Given the description of an element on the screen output the (x, y) to click on. 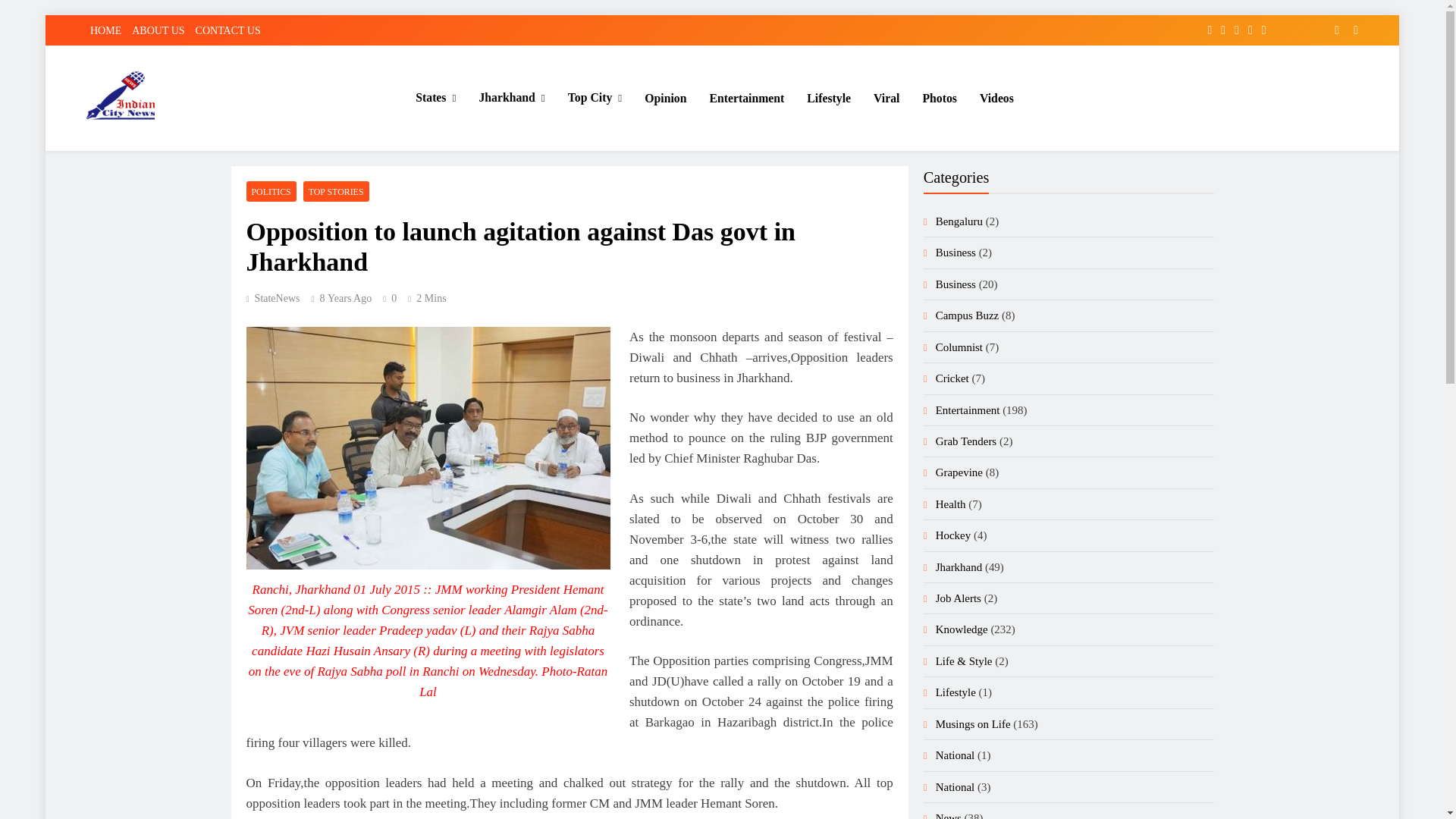
Indian City News (173, 151)
HOME (105, 30)
States (435, 97)
ABOUT US (158, 30)
Jharkhand (511, 97)
CONTACT US (227, 30)
